Given the description of an element on the screen output the (x, y) to click on. 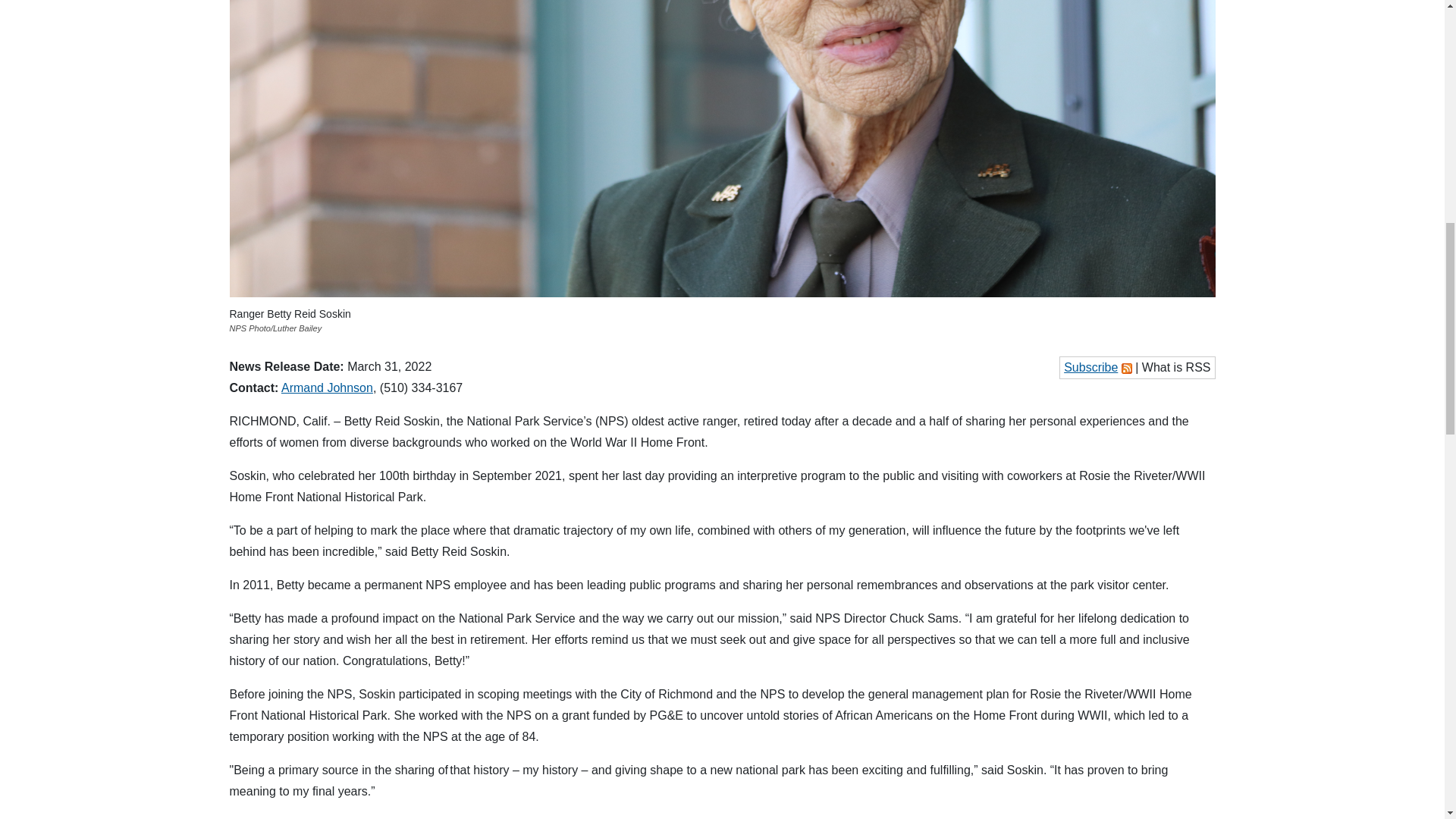
Subscribe (1091, 367)
Armand Johnson (326, 387)
What is RSS (1176, 367)
